Given the description of an element on the screen output the (x, y) to click on. 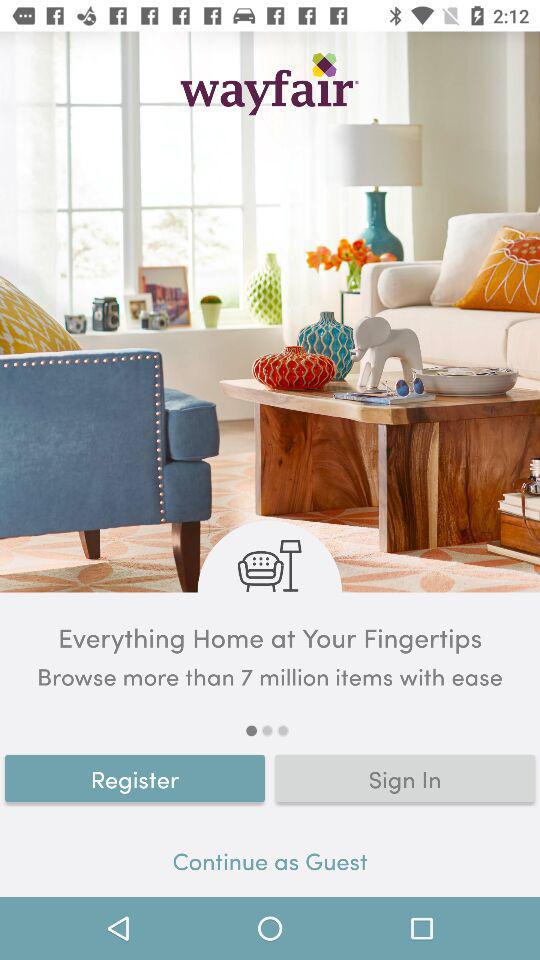
turn off the item next to the register item (405, 778)
